Given the description of an element on the screen output the (x, y) to click on. 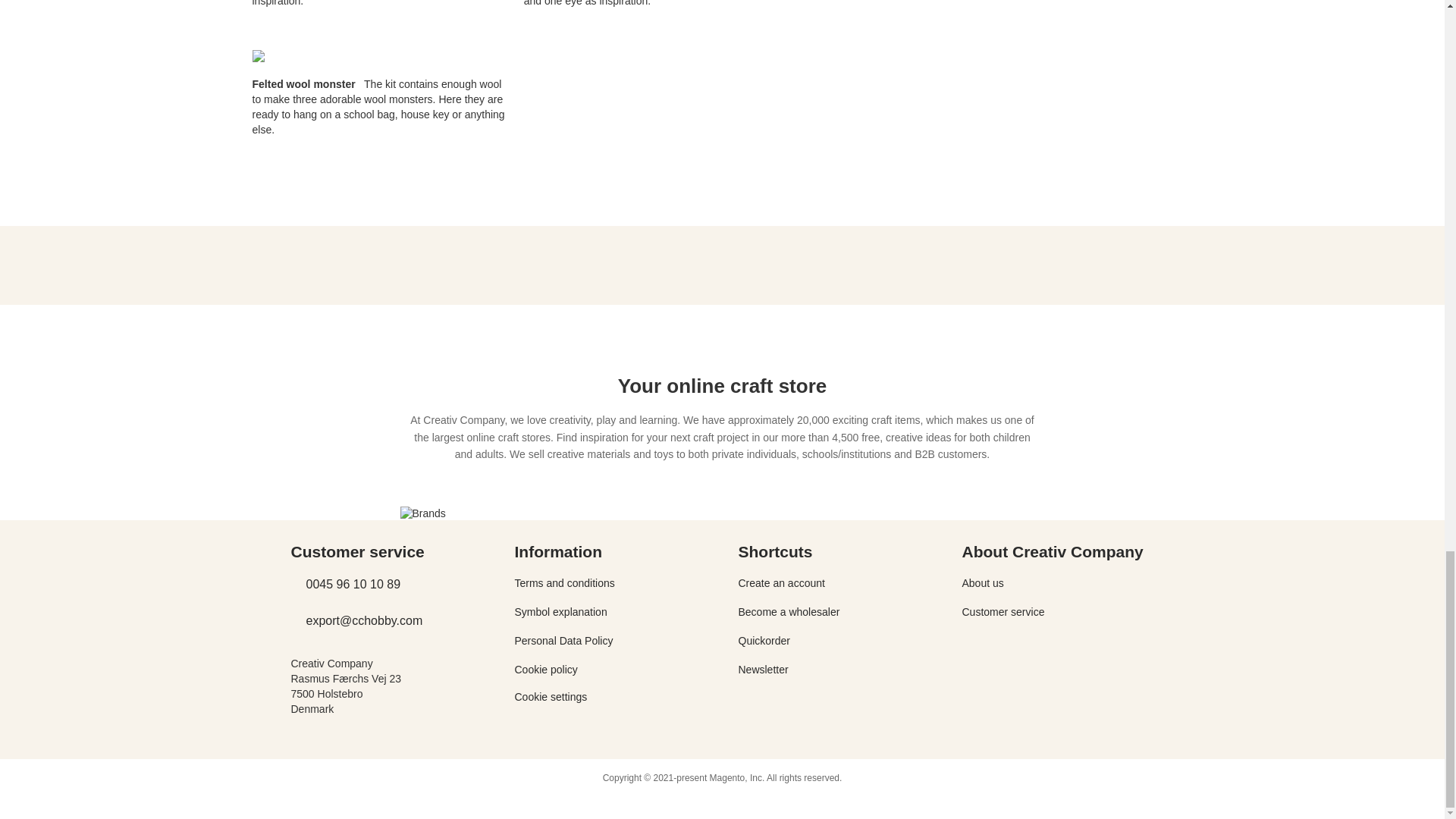
Become a wholesaler (789, 612)
Personal Data Policy (562, 640)
Terms and conditions (563, 582)
Symbol explanation (560, 612)
Cookie policy (544, 669)
Quickorder (764, 640)
Customer service (1001, 612)
Create an account (781, 582)
About us (981, 582)
